Given the description of an element on the screen output the (x, y) to click on. 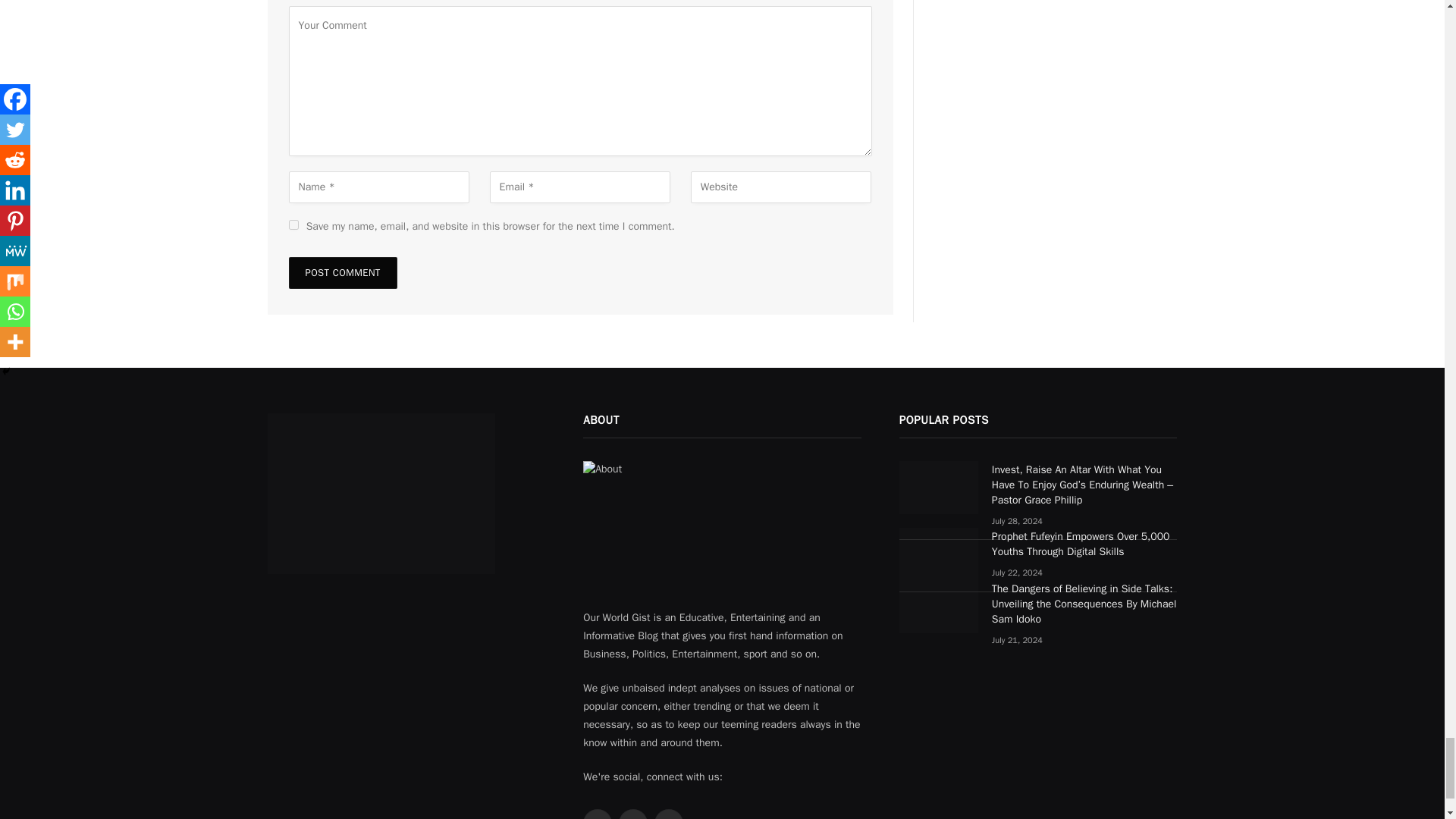
yes (293, 225)
Post Comment (342, 273)
